Given the description of an element on the screen output the (x, y) to click on. 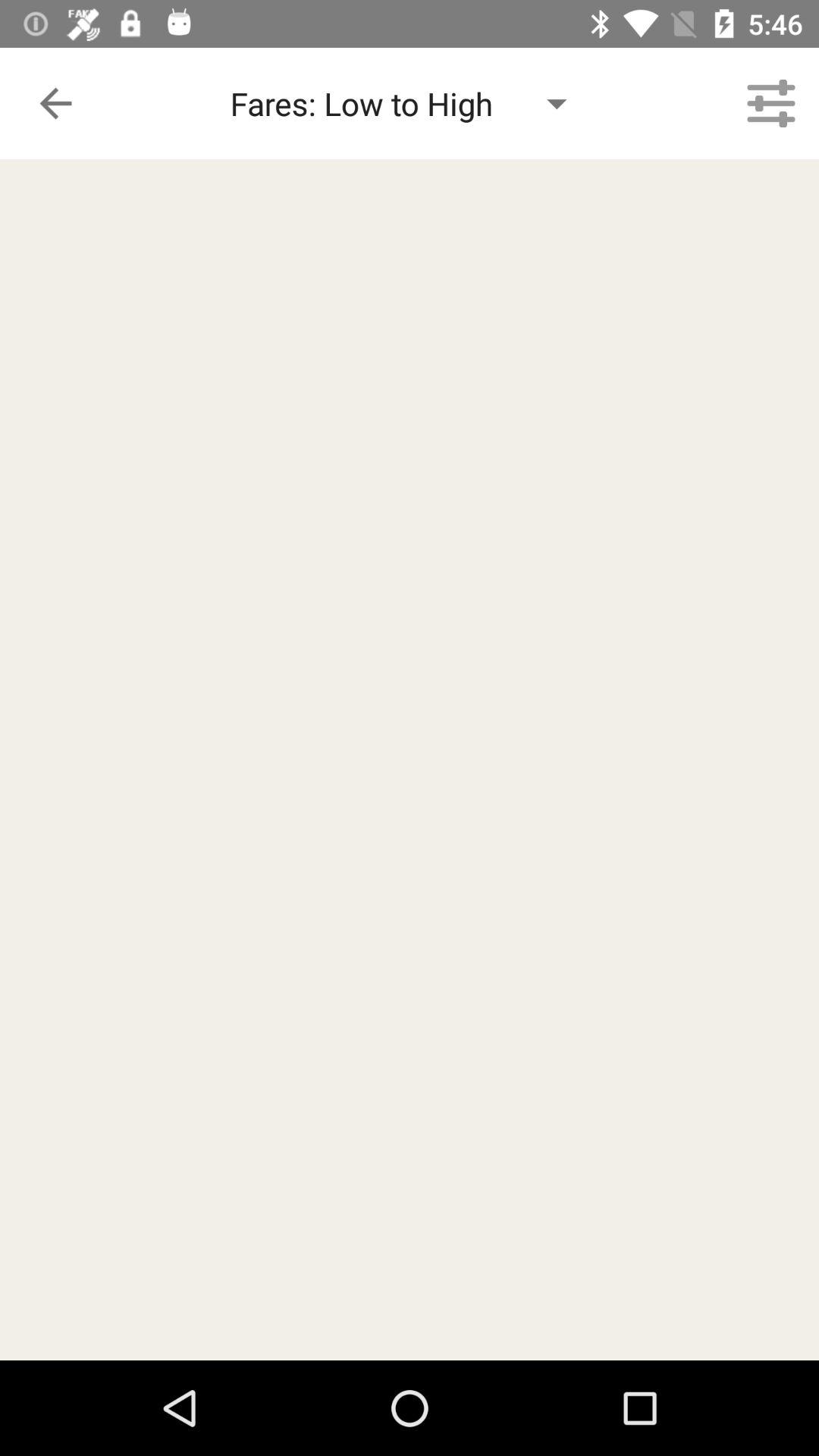
turn on the icon to the right of the fares low to item (771, 103)
